Given the description of an element on the screen output the (x, y) to click on. 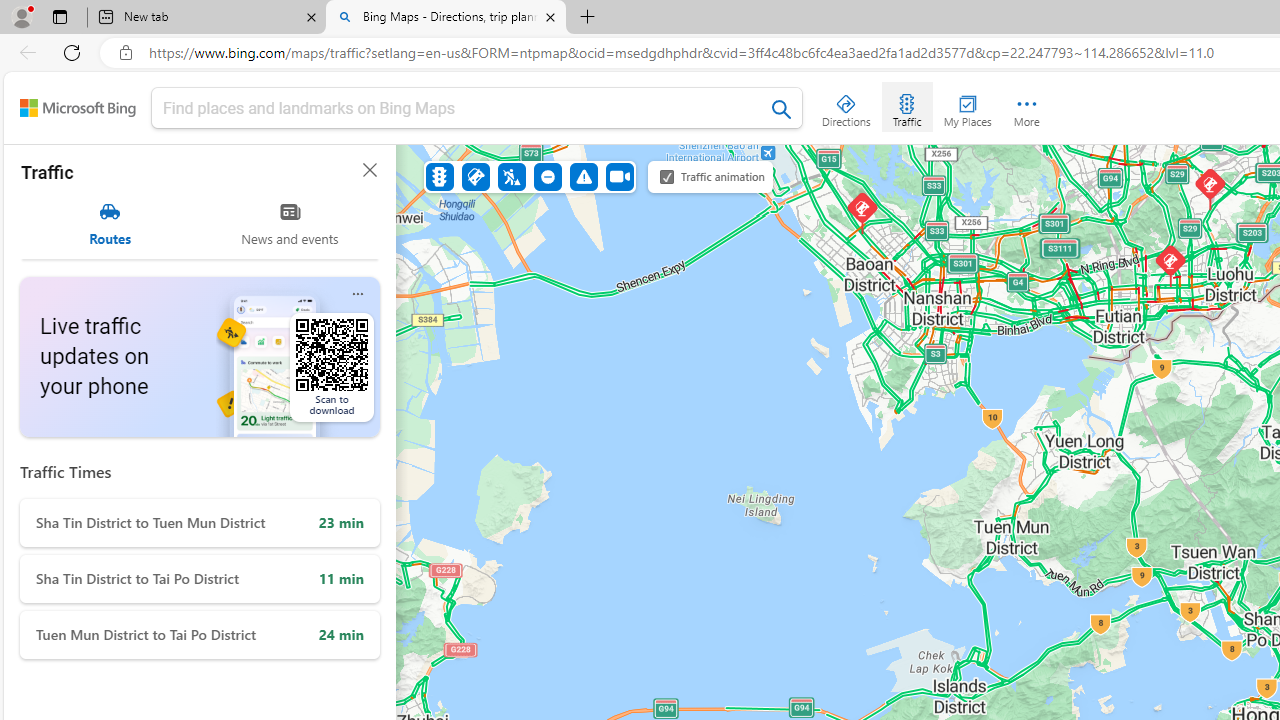
My Places (967, 106)
Directions (846, 106)
Tuen Mun District to Tai Po District (200, 634)
Search Bing Maps (781, 109)
News and events (290, 223)
Construction (511, 176)
Road Closures (547, 176)
Sha Tin District to Tai Po District (200, 579)
More (1026, 106)
Directions (846, 106)
Accidents (476, 176)
Class: sbElement (77, 107)
My Places (967, 106)
